Given the description of an element on the screen output the (x, y) to click on. 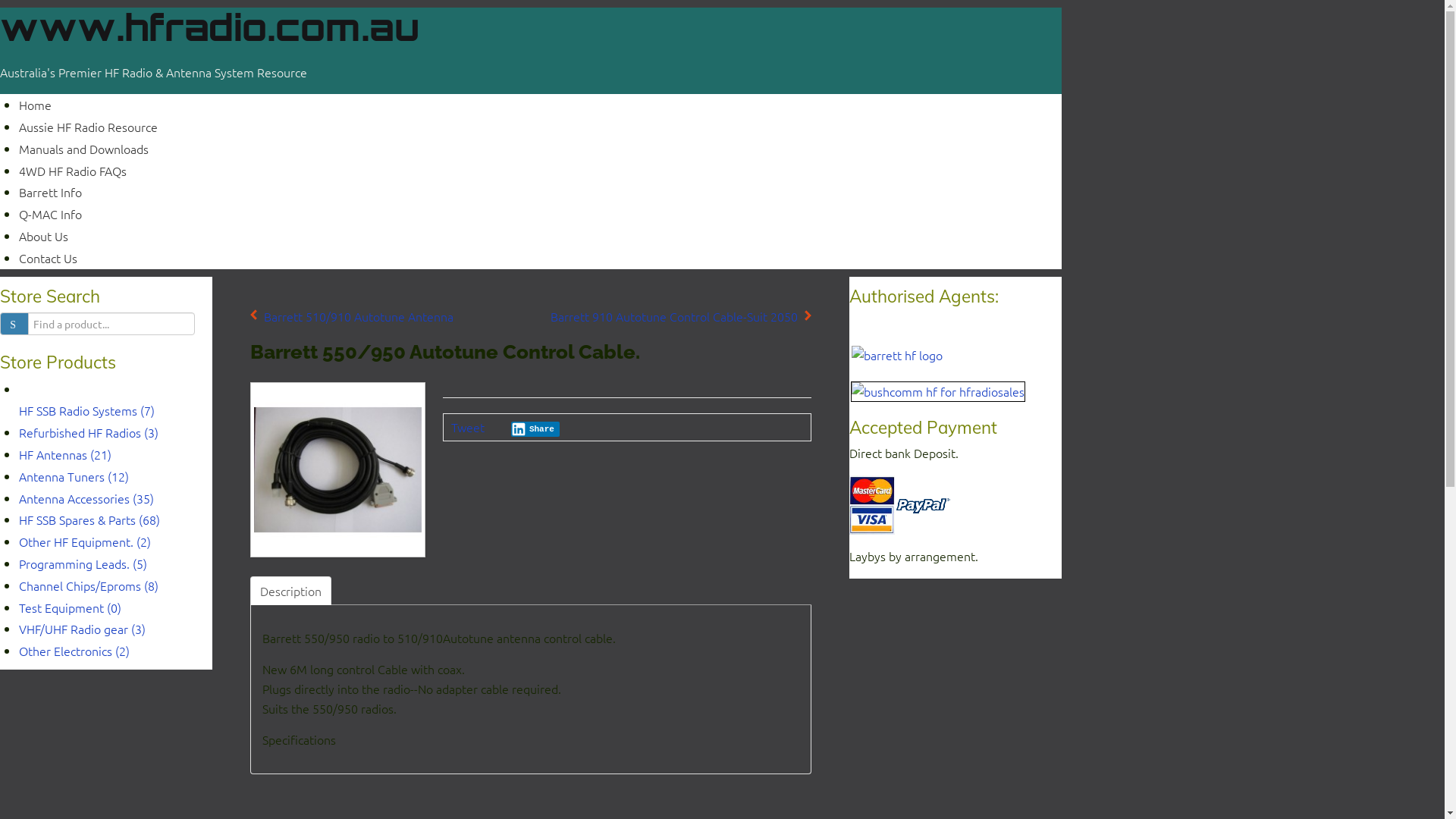
Programming Leads. (5) Element type: text (82, 563)
Antenna Tuners (12) Element type: text (73, 475)
HF Antennas (21) Element type: text (64, 453)
VHF/UHF Radio gear (3) Element type: text (81, 628)
Other Electronics (2) Element type: text (73, 650)
Antenna Accessories (35) Element type: text (85, 497)
Q-MAC Info Element type: text (49, 213)
HF SSB Spares & Parts (68) Element type: text (89, 519)
HF SSB Radio Systems (7) Element type: text (86, 420)
Barrett 510/910 Autotune Antenna Element type: text (351, 316)
4WD HF Radio FAQs Element type: text (72, 170)
Description Element type: text (290, 590)
About Us Element type: text (43, 235)
Tweet Element type: text (467, 426)
Barrett 550/950 Autotune Control Cable. Element type: hover (337, 469)
Barrett Info Element type: text (49, 191)
www.hfradio.com.au Element type: text (209, 26)
Barrett 910 Autotune Control Cable-Suit 2050 Element type: text (680, 316)
Contact Us Element type: text (47, 257)
Share Element type: text (535, 428)
Refurbished HF Radios (3) Element type: text (88, 431)
Channel Chips/Eproms (8) Element type: text (88, 585)
Manuals and Downloads Element type: text (83, 148)
Home Element type: text (34, 104)
Test Equipment (0) Element type: text (69, 607)
Aussie HF Radio Resource Element type: text (87, 126)
Other HF Equipment. (2) Element type: text (84, 541)
Barrett HF Radio Information catalogue Element type: hover (896, 353)
